Given the description of an element on the screen output the (x, y) to click on. 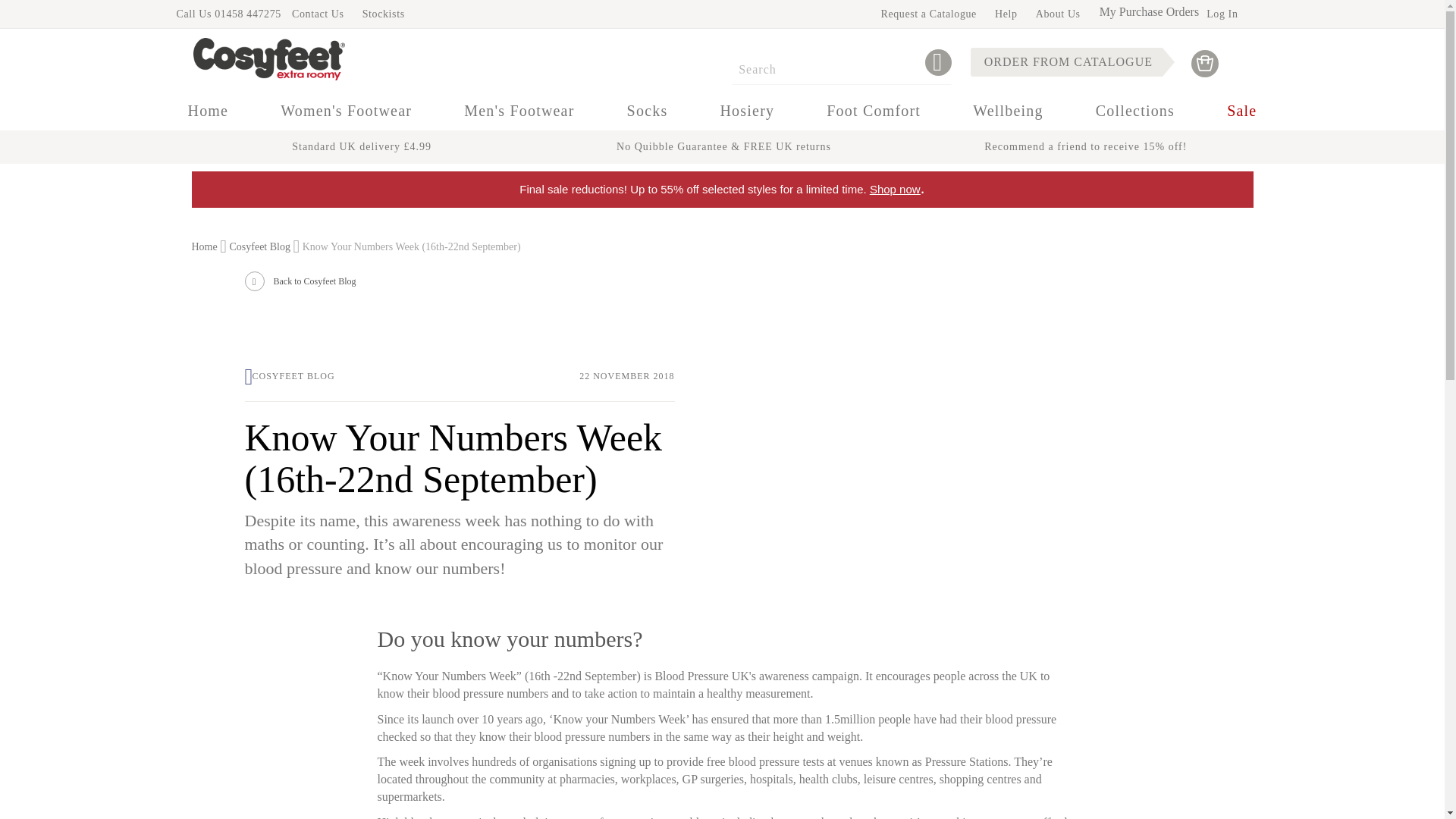
Stockists (383, 13)
About Us (1057, 13)
Request a Catalogue (927, 13)
Contact Us (317, 13)
01458 447275 (247, 13)
Contact Us (317, 13)
My Purchase Orders (1149, 11)
Help (1005, 13)
About Us (1057, 13)
